Given the description of an element on the screen output the (x, y) to click on. 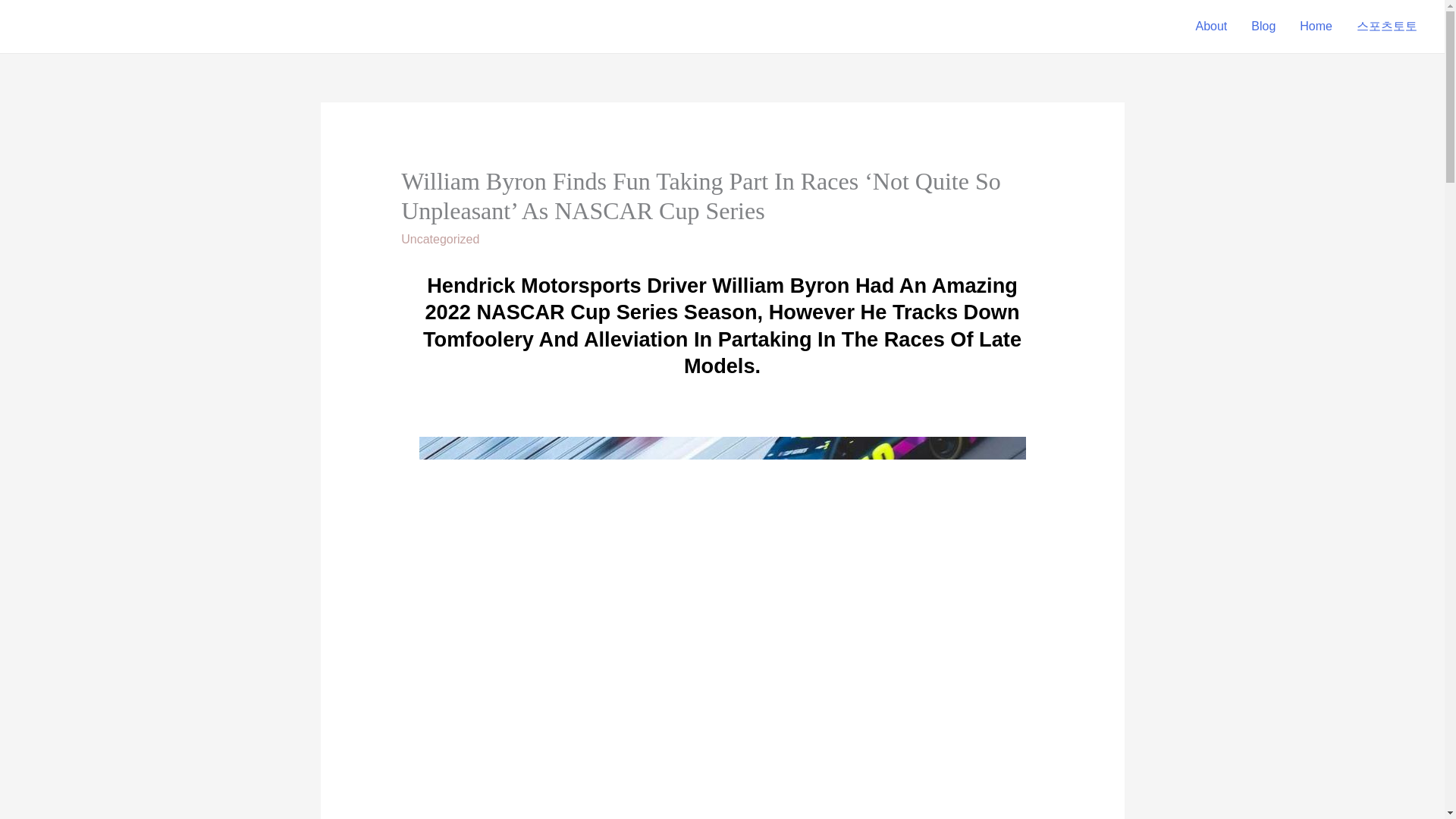
About (1210, 26)
Blog (1263, 26)
Uncategorized (440, 238)
Home (1315, 26)
